Given the description of an element on the screen output the (x, y) to click on. 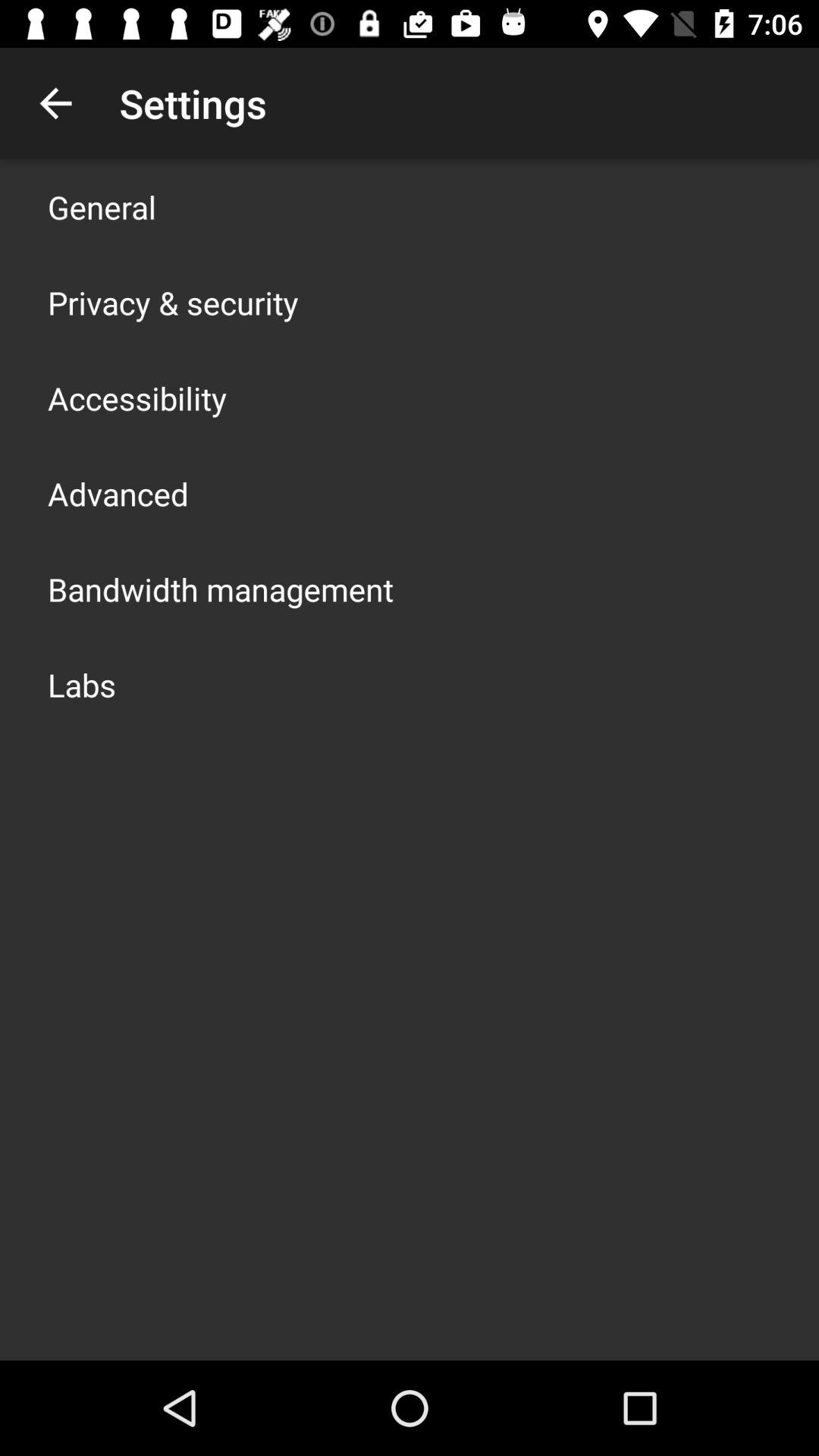
turn on accessibility app (136, 397)
